Given the description of an element on the screen output the (x, y) to click on. 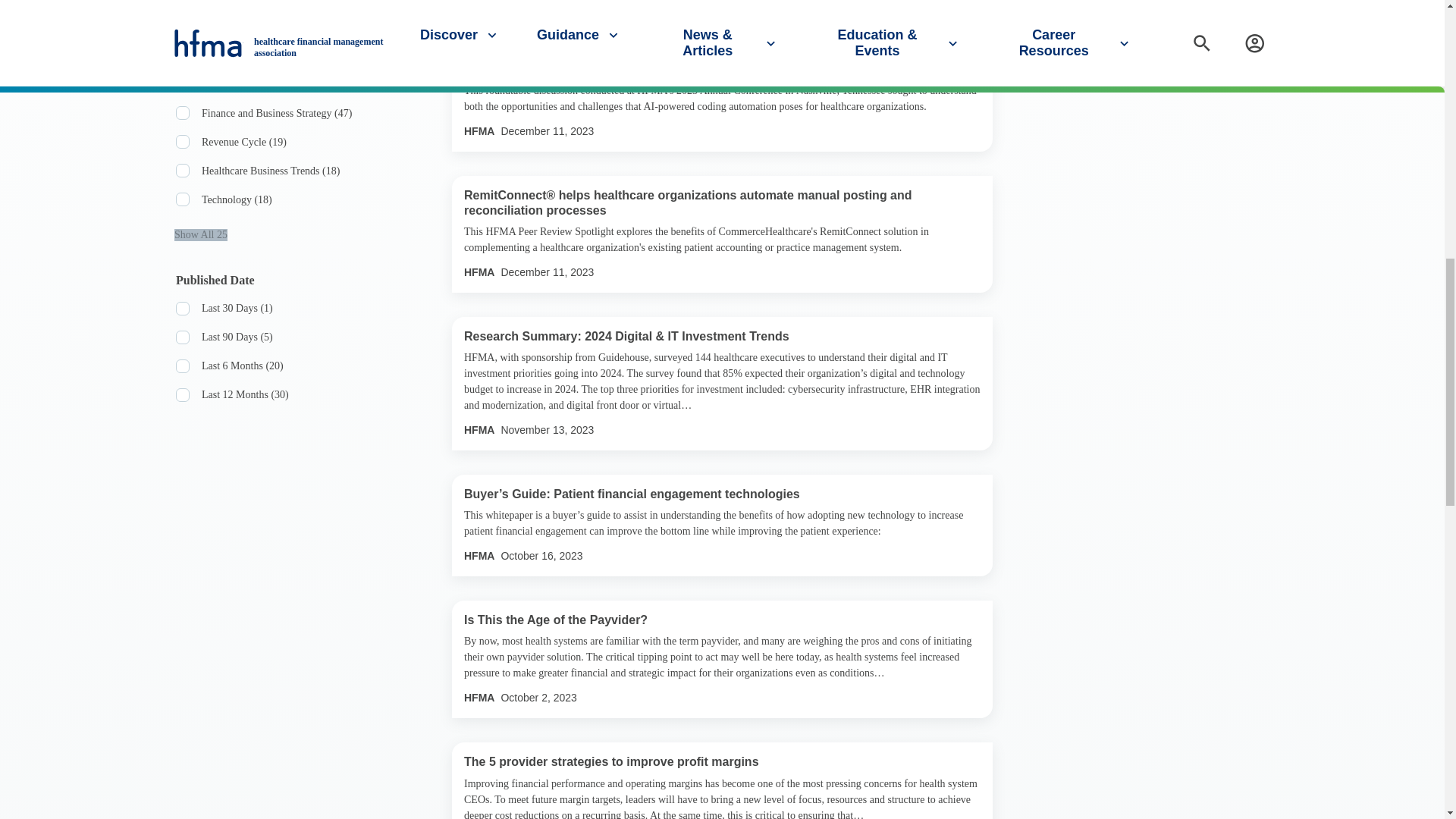
3rd party ad content (1157, 25)
6months (182, 366)
30days (182, 308)
article (182, 5)
90days (182, 336)
technology (182, 199)
12months (182, 395)
revenue-cycle (182, 141)
finance-and-business-strategy (182, 112)
healthcare-business-trends (182, 170)
